Given the description of an element on the screen output the (x, y) to click on. 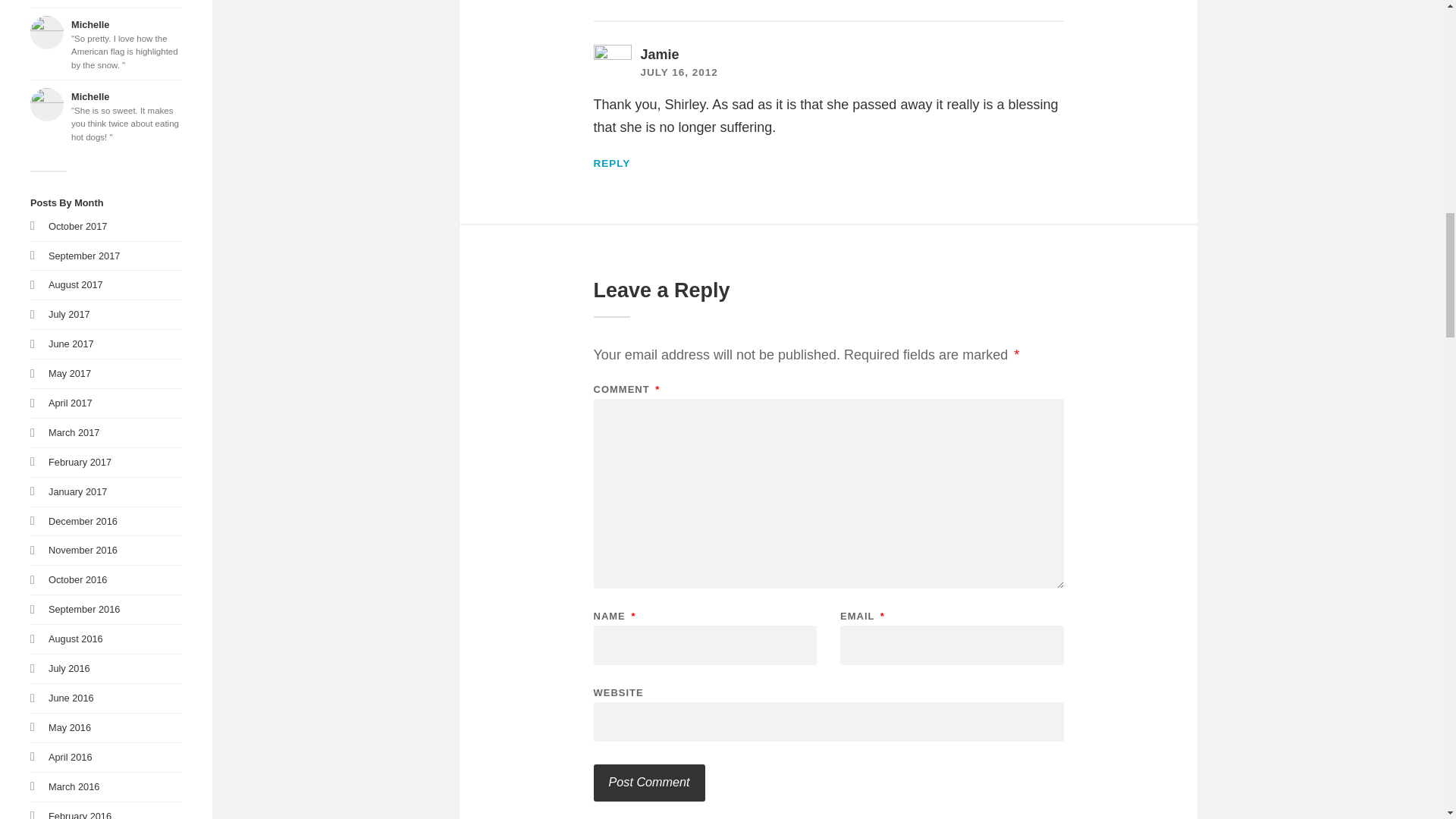
August 2017 (75, 284)
April 2017 (69, 402)
March 2017 (73, 432)
May 2017 (69, 373)
October 2017 (77, 225)
Post Comment (648, 782)
July 2017 (69, 314)
June 2017 (71, 343)
September 2017 (83, 255)
